Given the description of an element on the screen output the (x, y) to click on. 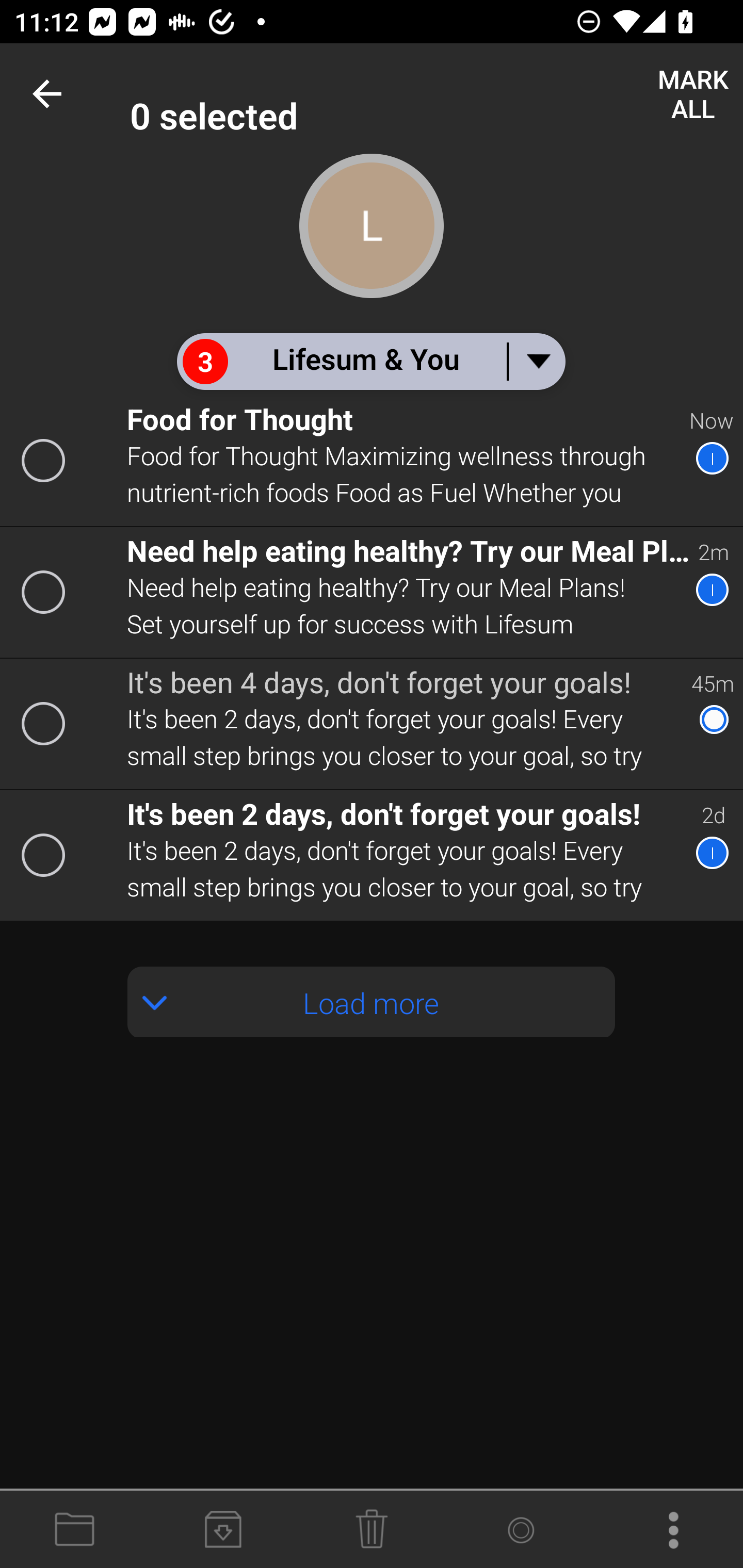
Navigate up (50, 93)
Lifesum lifesum@communication.lifesum.com (436, 93)
MARK
ALL (692, 93)
3 Lifesum & You (370, 361)
Load more (371, 1001)
Move (74, 1529)
Archive (222, 1529)
Delete (371, 1529)
Mark as Read (520, 1529)
More Options (668, 1529)
